Given the description of an element on the screen output the (x, y) to click on. 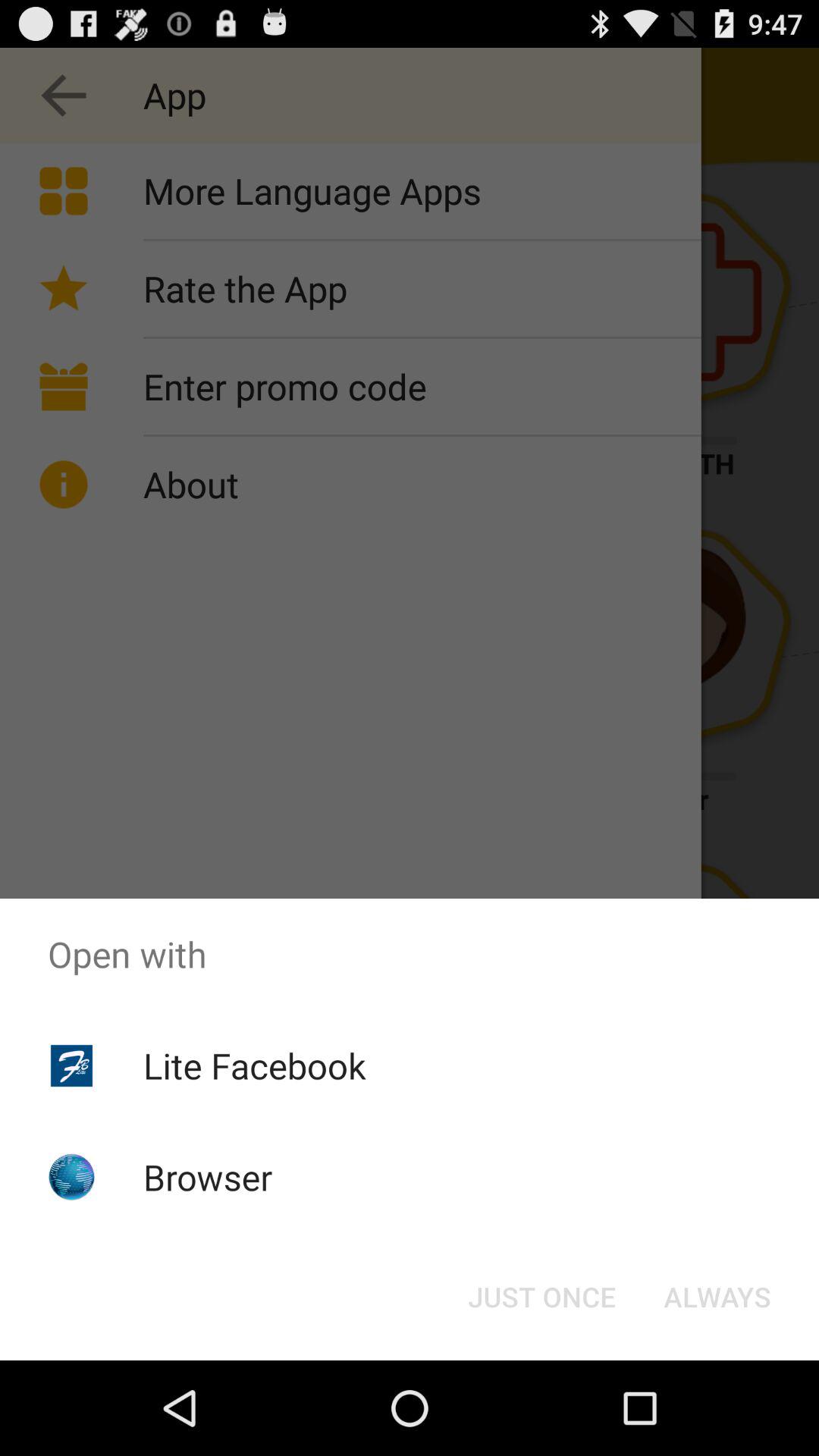
swipe until lite facebook item (254, 1065)
